Given the description of an element on the screen output the (x, y) to click on. 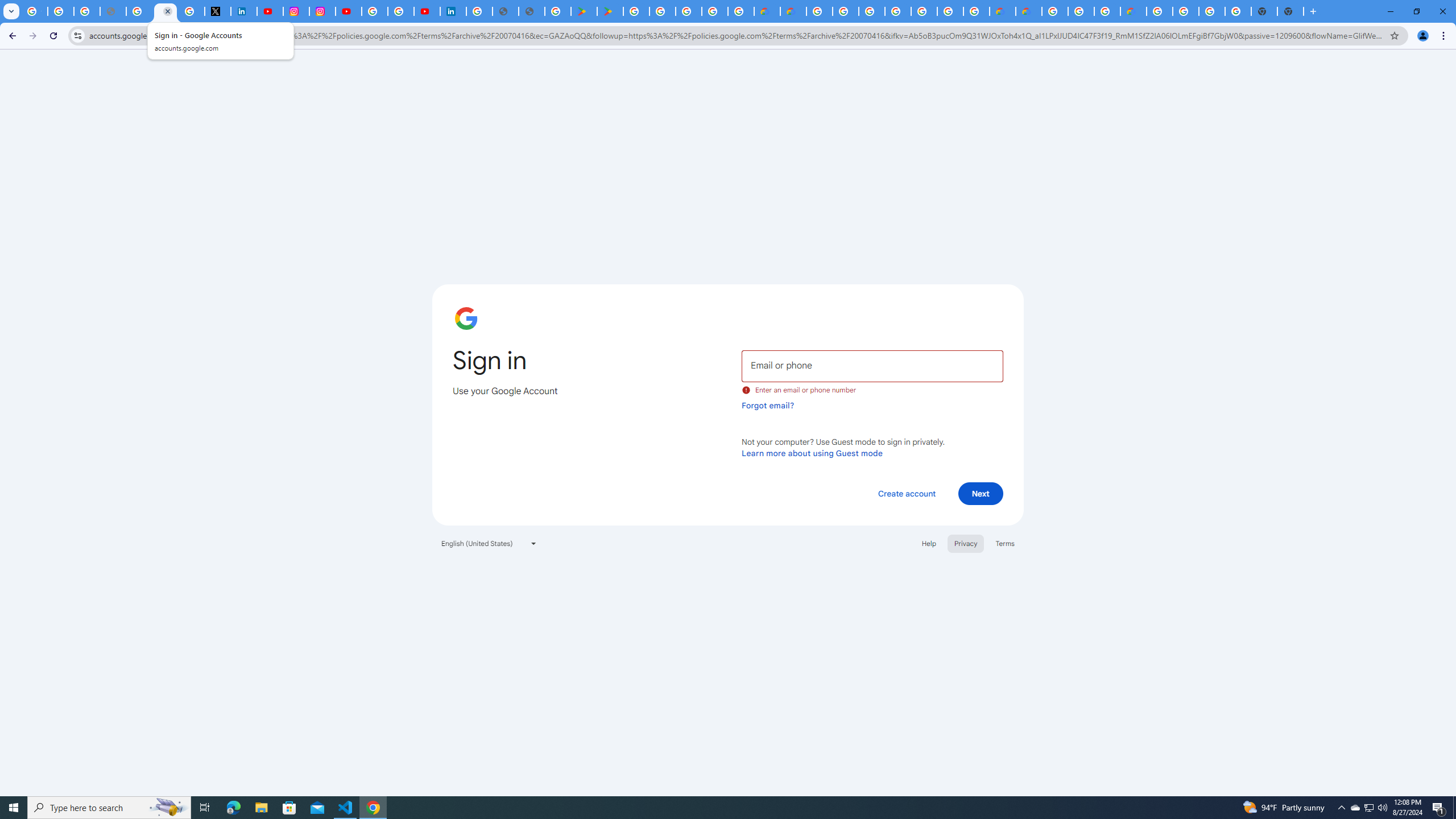
Browse Chrome as a guest - Computer - Google Chrome Help (1107, 11)
User Details (531, 11)
Terms (1005, 542)
New Tab (1290, 11)
Learn more about using Guest mode (812, 452)
LinkedIn Privacy Policy (243, 11)
Next (980, 493)
Google Cloud Platform (1159, 11)
